Given the description of an element on the screen output the (x, y) to click on. 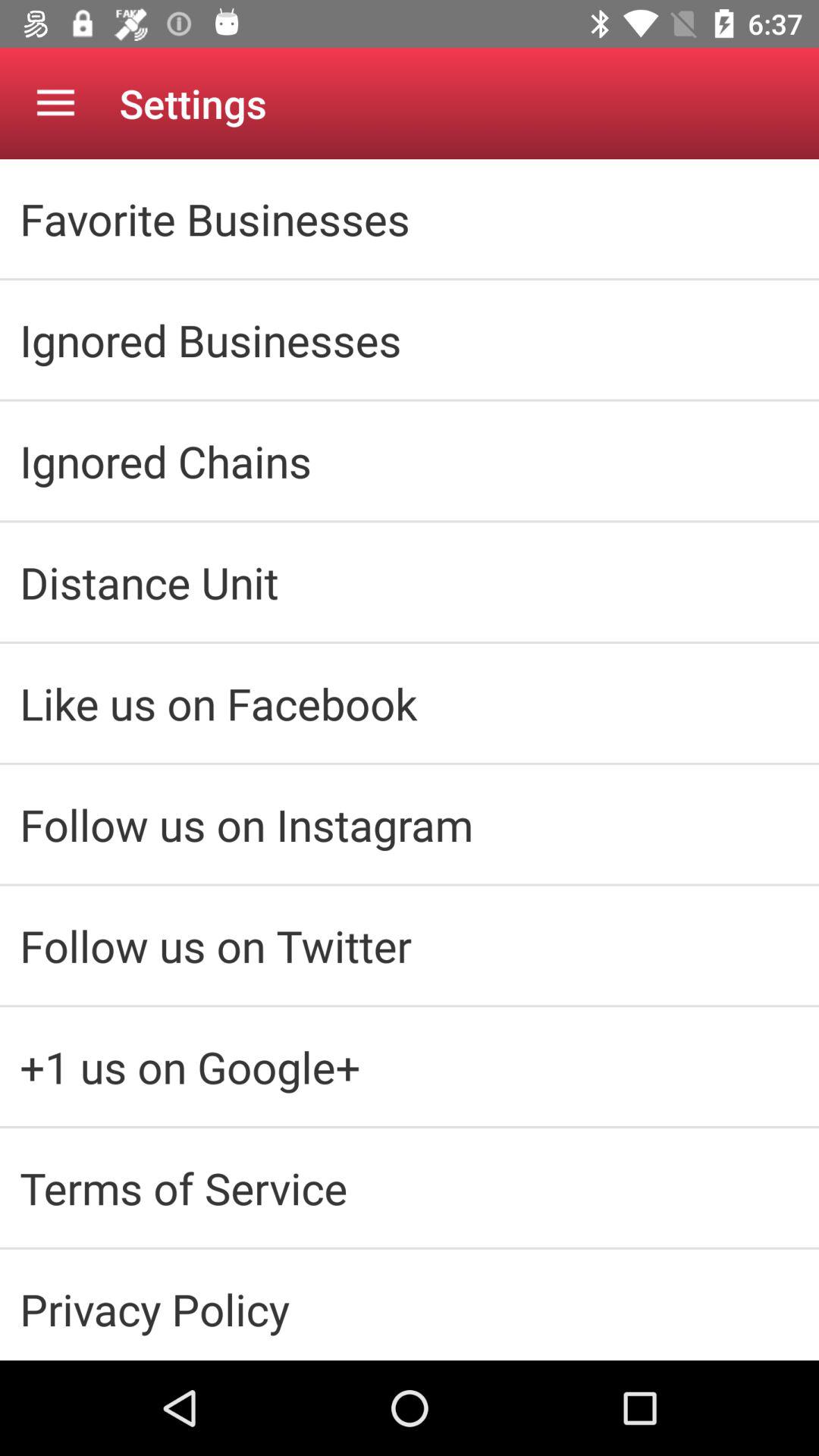
turn on the item above the favorite businesses icon (55, 103)
